Given the description of an element on the screen output the (x, y) to click on. 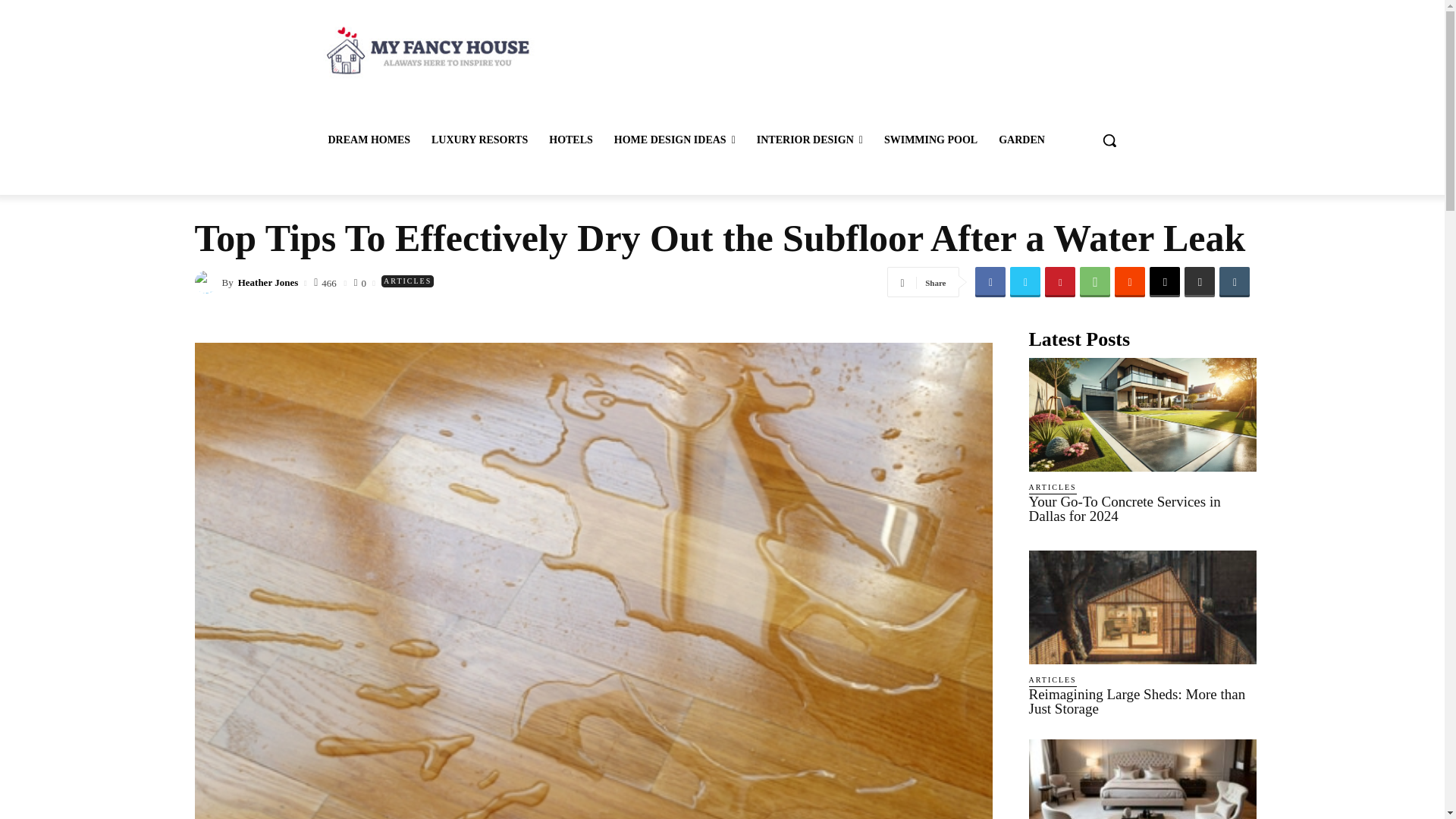
HOTELS (571, 140)
MyFancyHouse (425, 49)
INTERIOR DESIGN (809, 140)
HOME DESIGN IDEAS (674, 140)
Heather Jones (207, 282)
Twitter (1025, 281)
WhatsApp (1094, 281)
LUXURY RESORTS (479, 140)
DREAM HOMES (368, 140)
Pinterest (1060, 281)
Advertisement (846, 65)
Facebook (990, 281)
